Given the description of an element on the screen output the (x, y) to click on. 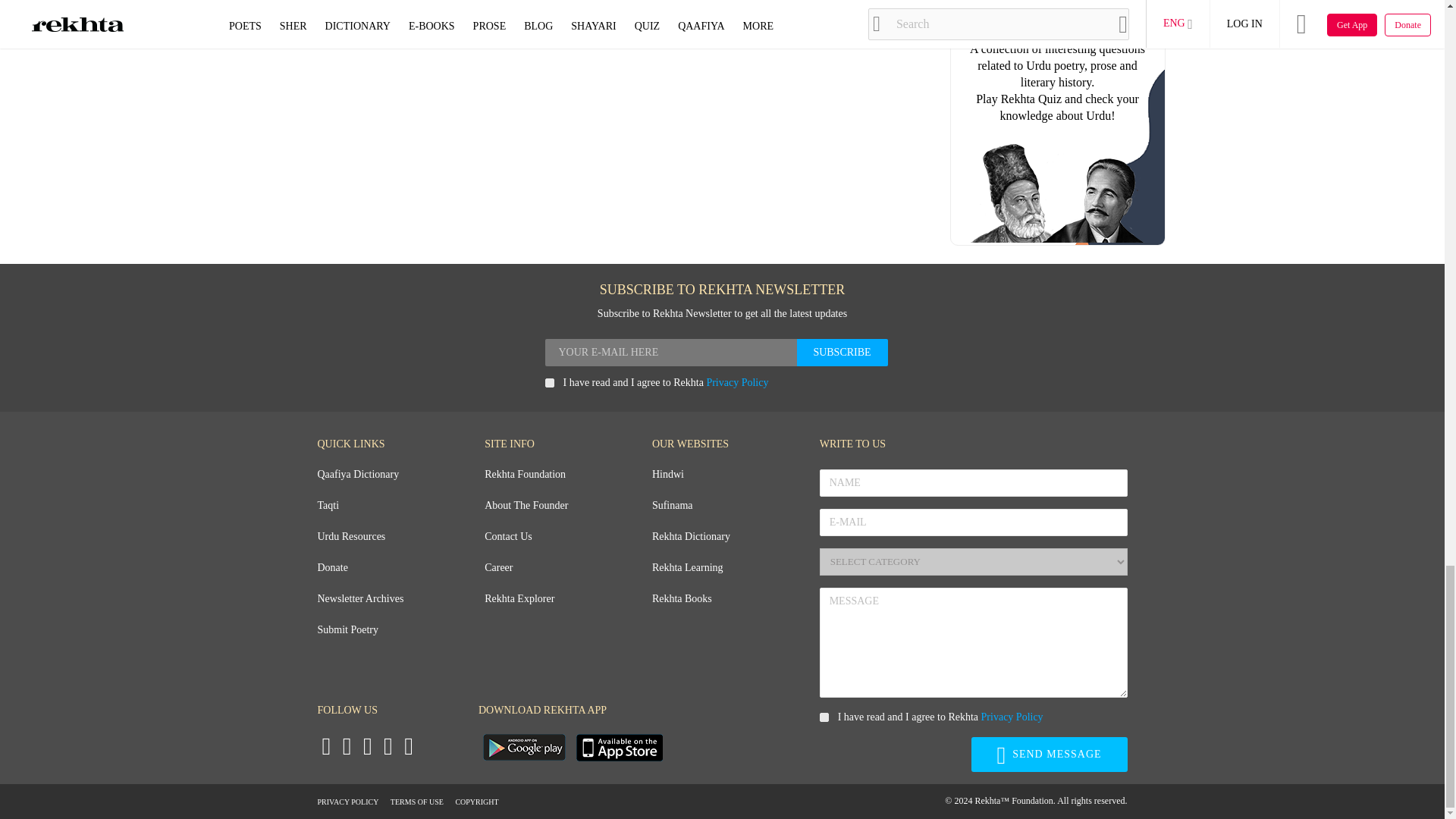
SUBSCRIBE (841, 352)
